Given the description of an element on the screen output the (x, y) to click on. 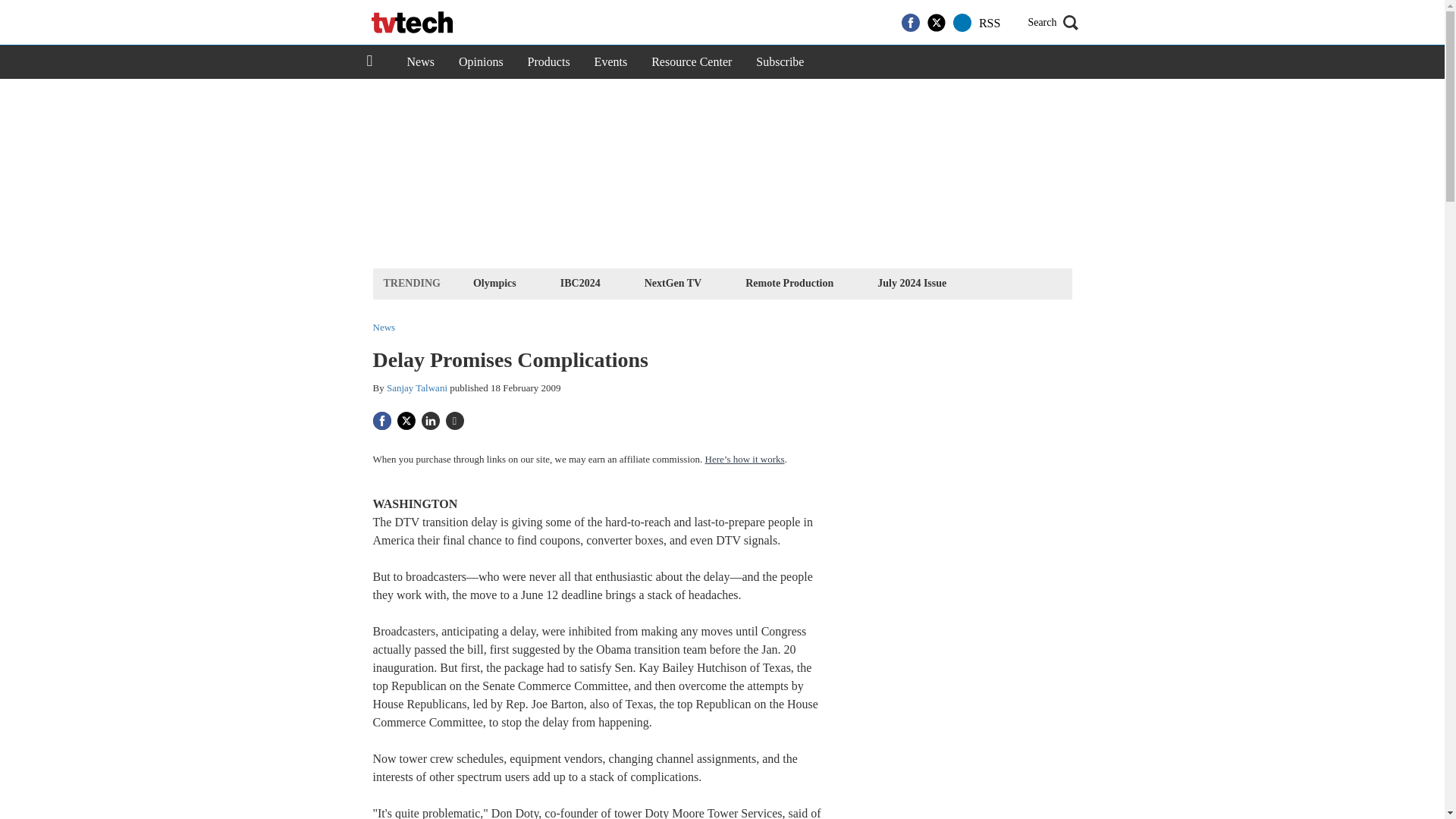
Sanjay Talwani (416, 387)
NextGen TV (673, 282)
Subscribe (779, 61)
Events (611, 61)
Products (548, 61)
IBC2024 (579, 282)
Opinions (480, 61)
Olympics (494, 282)
Resource Center (691, 61)
News (419, 61)
